Given the description of an element on the screen output the (x, y) to click on. 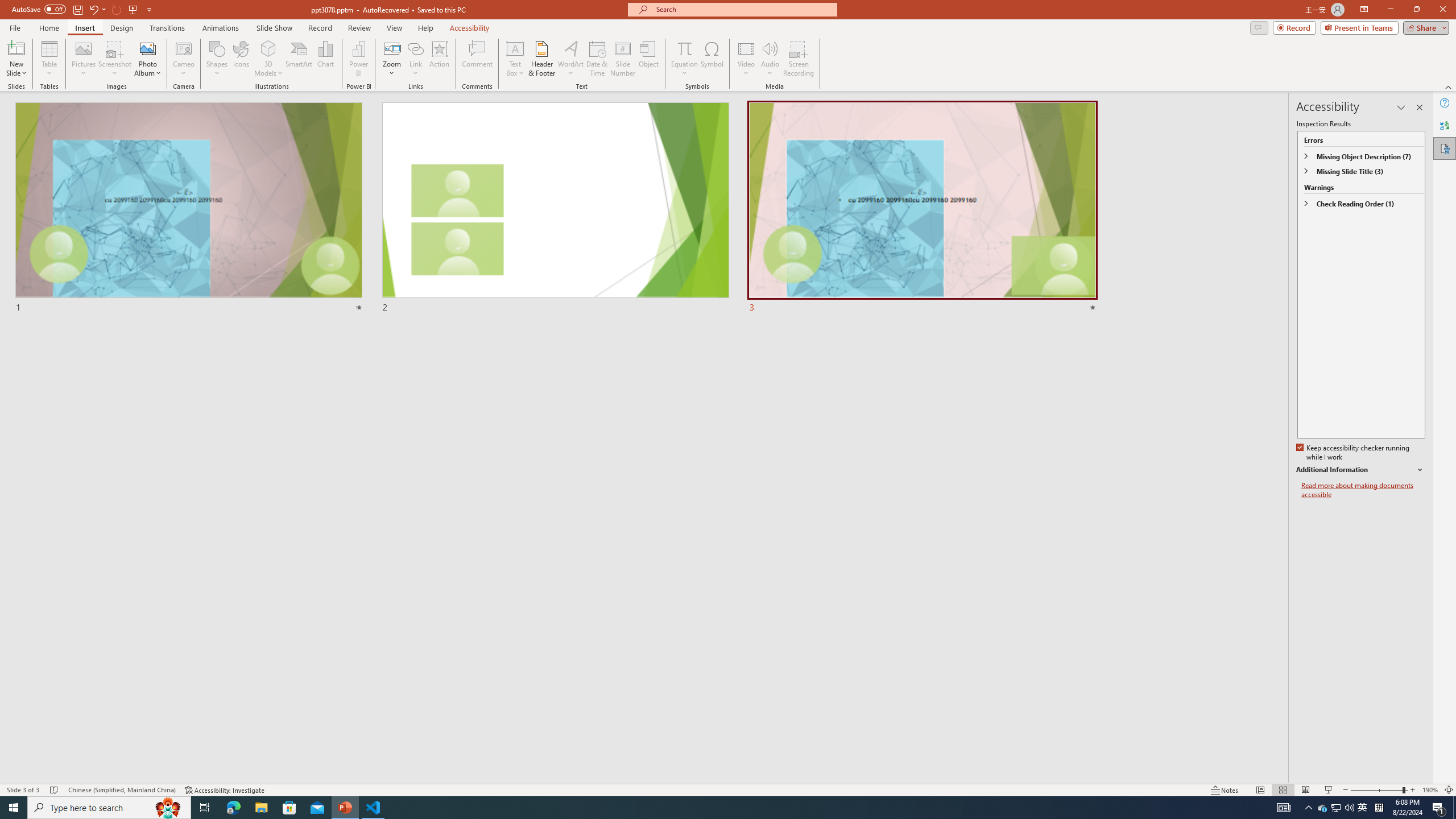
Video (745, 58)
Read more about making documents accessible (1363, 489)
Header & Footer... (541, 58)
